Given the description of an element on the screen output the (x, y) to click on. 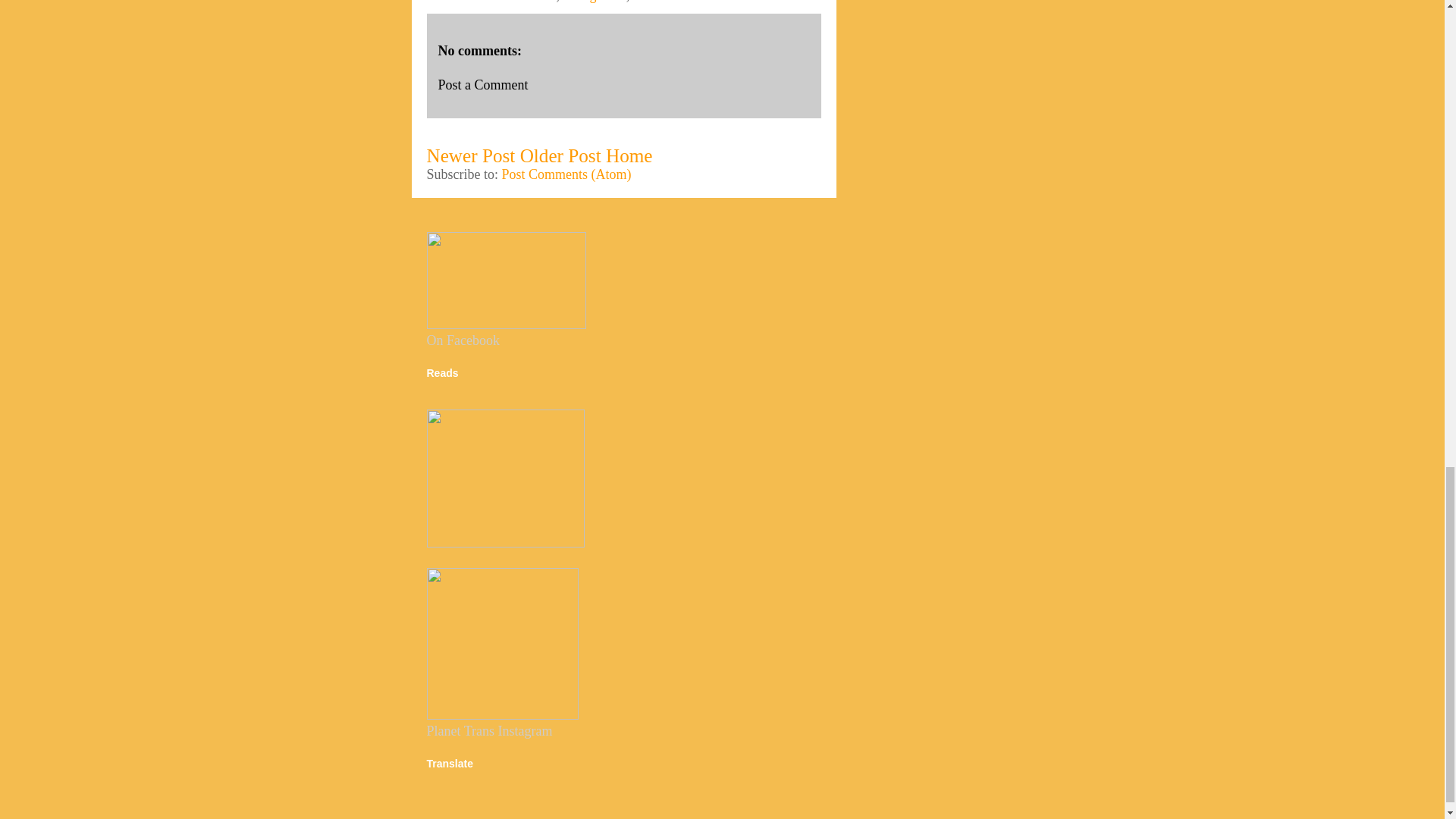
Older Post (560, 155)
Sabrina Marcus (513, 1)
transgender (594, 1)
Older Post (560, 155)
Newer Post (470, 155)
Home (628, 155)
Trinidad (654, 1)
Post a Comment (483, 84)
Newer Post (470, 155)
